Given the description of an element on the screen output the (x, y) to click on. 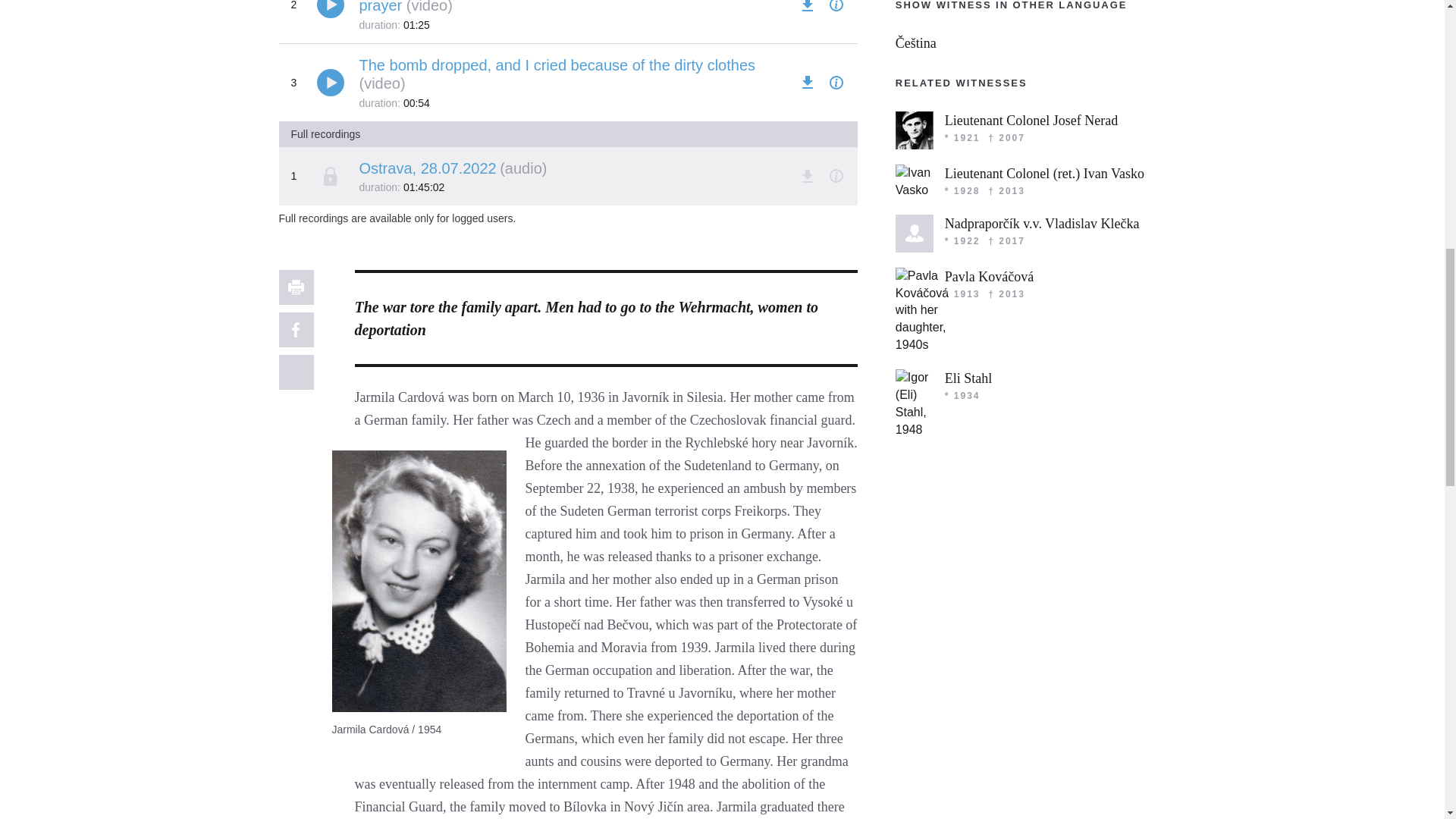
Download file (807, 7)
Download file (807, 175)
Download file (807, 82)
